Given the description of an element on the screen output the (x, y) to click on. 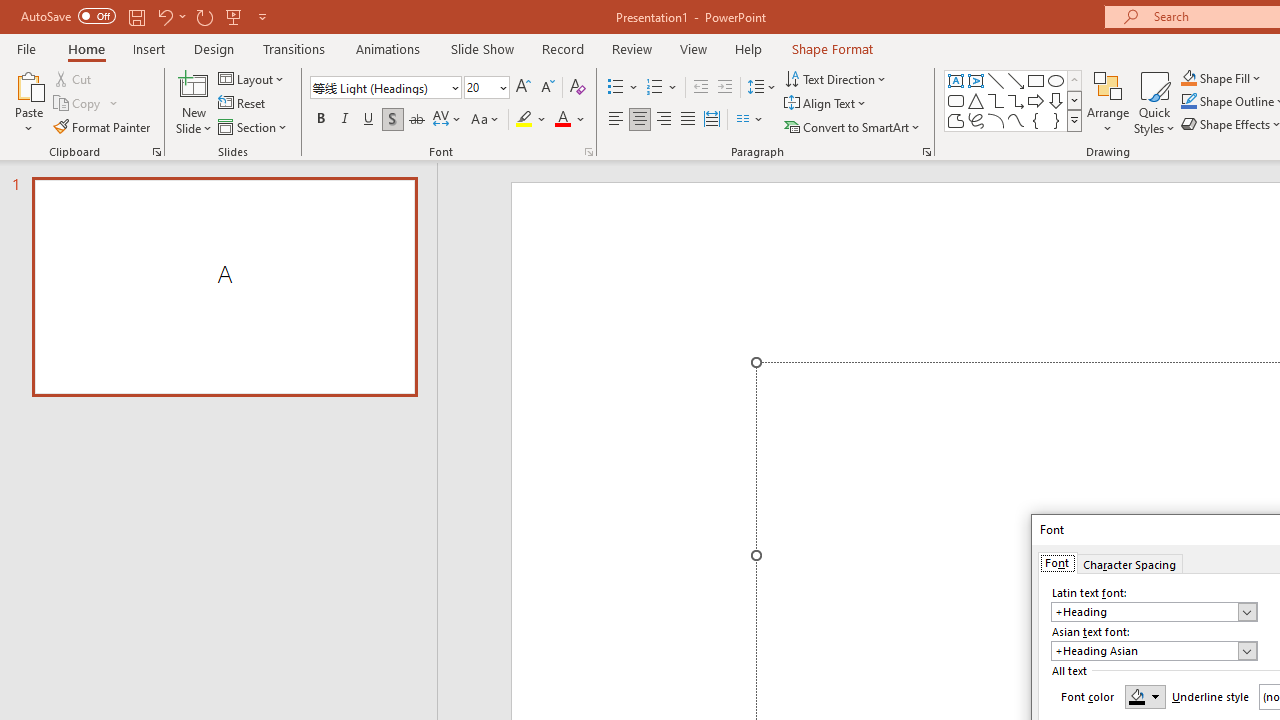
Center (639, 119)
Right Brace (1055, 120)
Text Highlight Color Yellow (524, 119)
Line (995, 80)
Numbering (654, 87)
Rectangle: Rounded Corners (955, 100)
Line Arrow (1016, 80)
Freeform: Scribble (975, 120)
Row up (1074, 79)
Rectangle (1035, 80)
Arrange (1108, 102)
Shape Fill Orange, Accent 2 (1188, 78)
Office Clipboard... (156, 151)
